Given the description of an element on the screen output the (x, y) to click on. 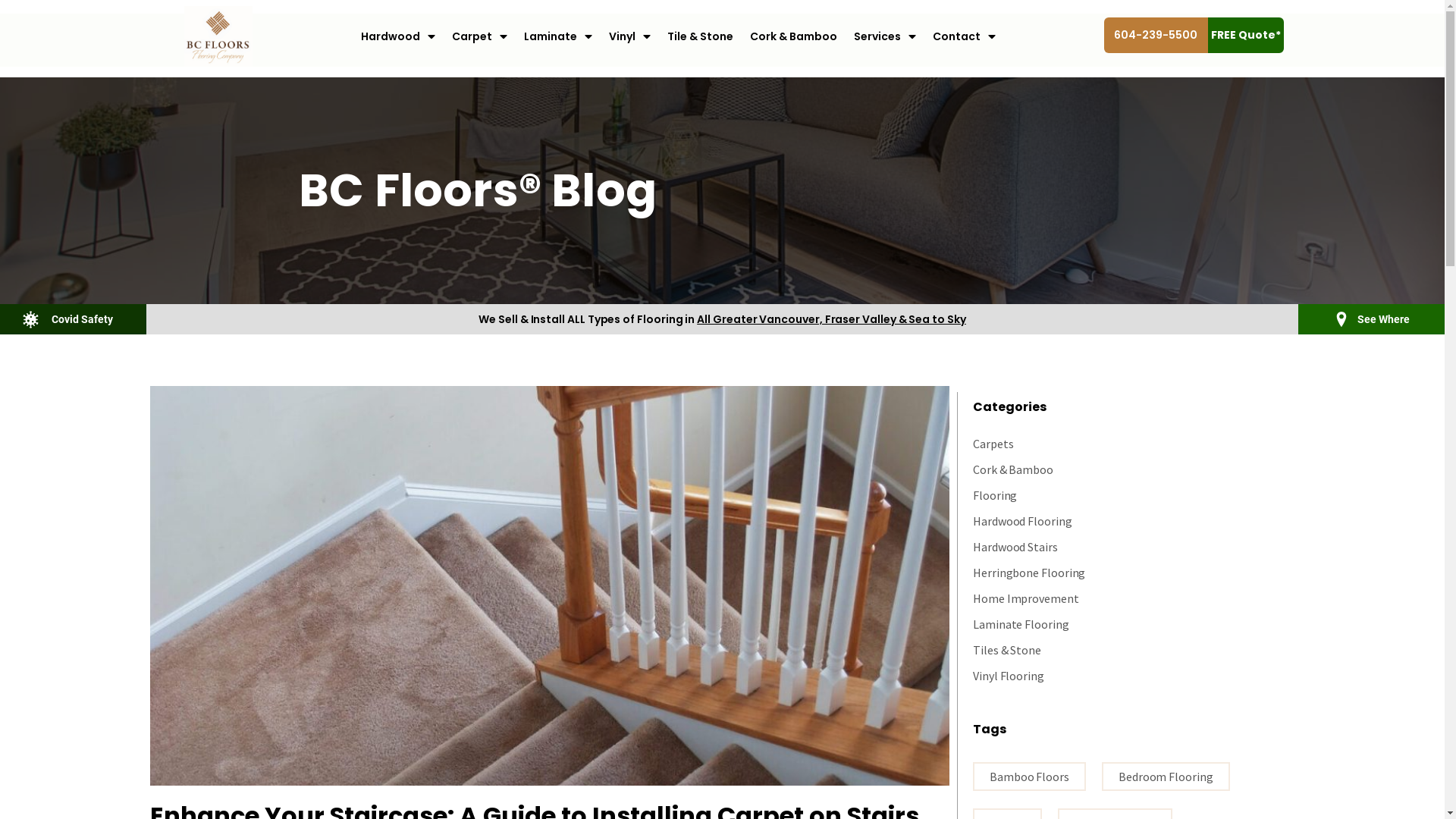
Carpet Element type: text (478, 36)
Cork & Bamboo Element type: text (1012, 468)
Contact Element type: text (963, 36)
Cork & Bamboo Element type: text (793, 36)
Laminate Element type: text (557, 36)
Herringbone Flooring Element type: text (1028, 572)
Carpets Element type: text (992, 443)
All Greater Vancouver, Fraser Valley & Sea to Sky Element type: text (831, 318)
Services Element type: text (883, 36)
Hardwood Stairs Element type: text (1014, 546)
Covid Safety Element type: text (81, 319)
See Where Element type: text (1383, 319)
Home Improvement Element type: text (1025, 597)
Vinyl Element type: text (629, 36)
Tile & Stone Element type: text (699, 36)
Bamboo Floors Element type: text (1028, 776)
Bedroom Flooring Element type: text (1165, 776)
Tiles & Stone Element type: text (1006, 649)
Flooring Element type: text (994, 494)
Laminate Flooring Element type: text (1020, 623)
Hardwood Flooring Element type: text (1022, 520)
604-239-5500 Element type: text (1156, 35)
FREE Quote* Element type: text (1245, 35)
Vinyl Flooring Element type: text (1008, 675)
Hardwood Element type: text (396, 36)
